Given the description of an element on the screen output the (x, y) to click on. 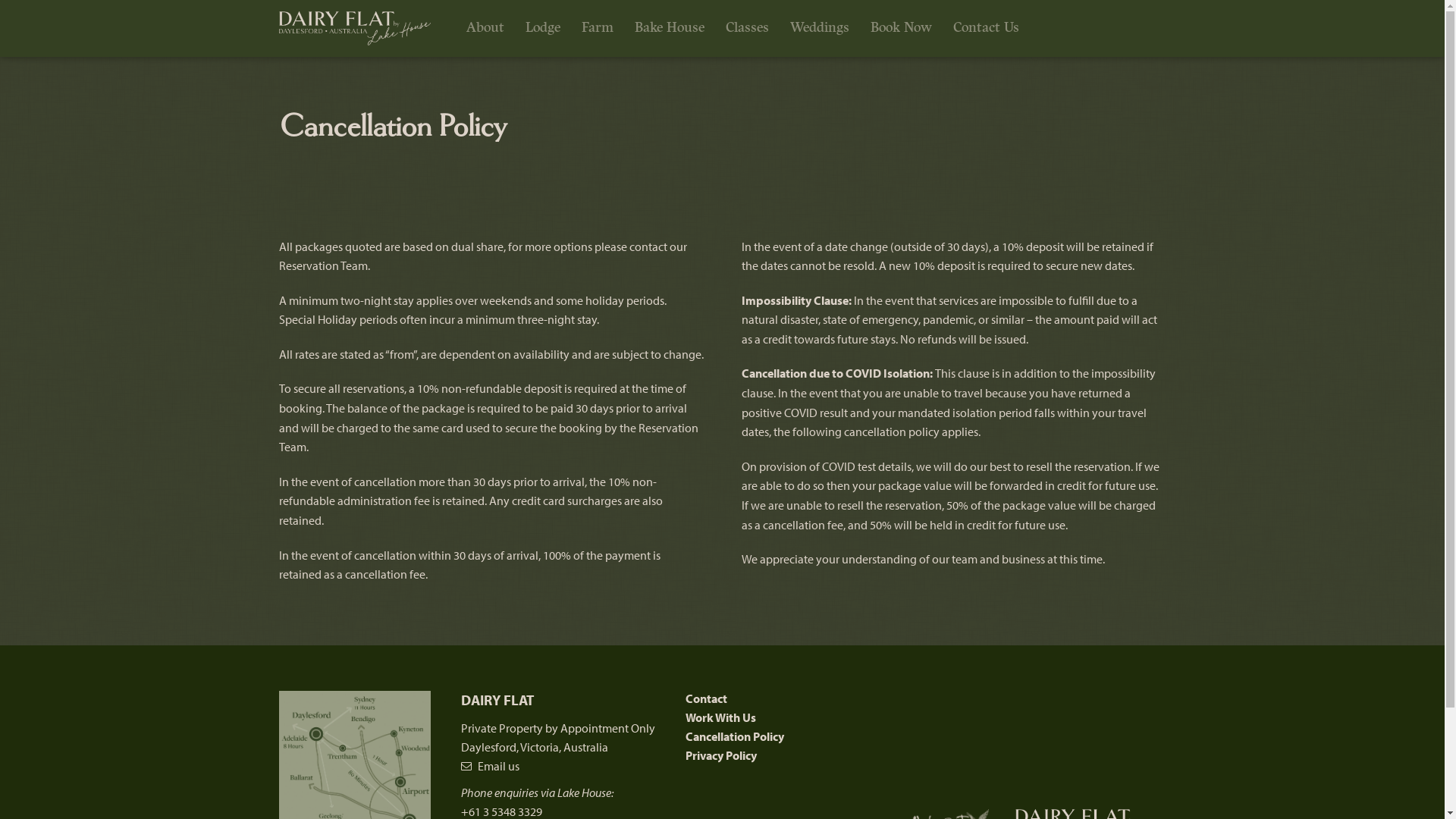
Bake House Element type: text (668, 27)
Contact Us Element type: text (985, 27)
Farm Element type: text (596, 27)
Lodge Element type: text (541, 27)
Work With Us Element type: text (720, 716)
Privacy Policy Element type: text (720, 754)
About Element type: text (484, 27)
Cancellation Policy Element type: text (734, 735)
Book Now Element type: text (900, 27)
Contact Element type: text (706, 698)
Weddings Element type: text (819, 27)
Email us Element type: text (490, 765)
Classes Element type: text (746, 27)
